Given the description of an element on the screen output the (x, y) to click on. 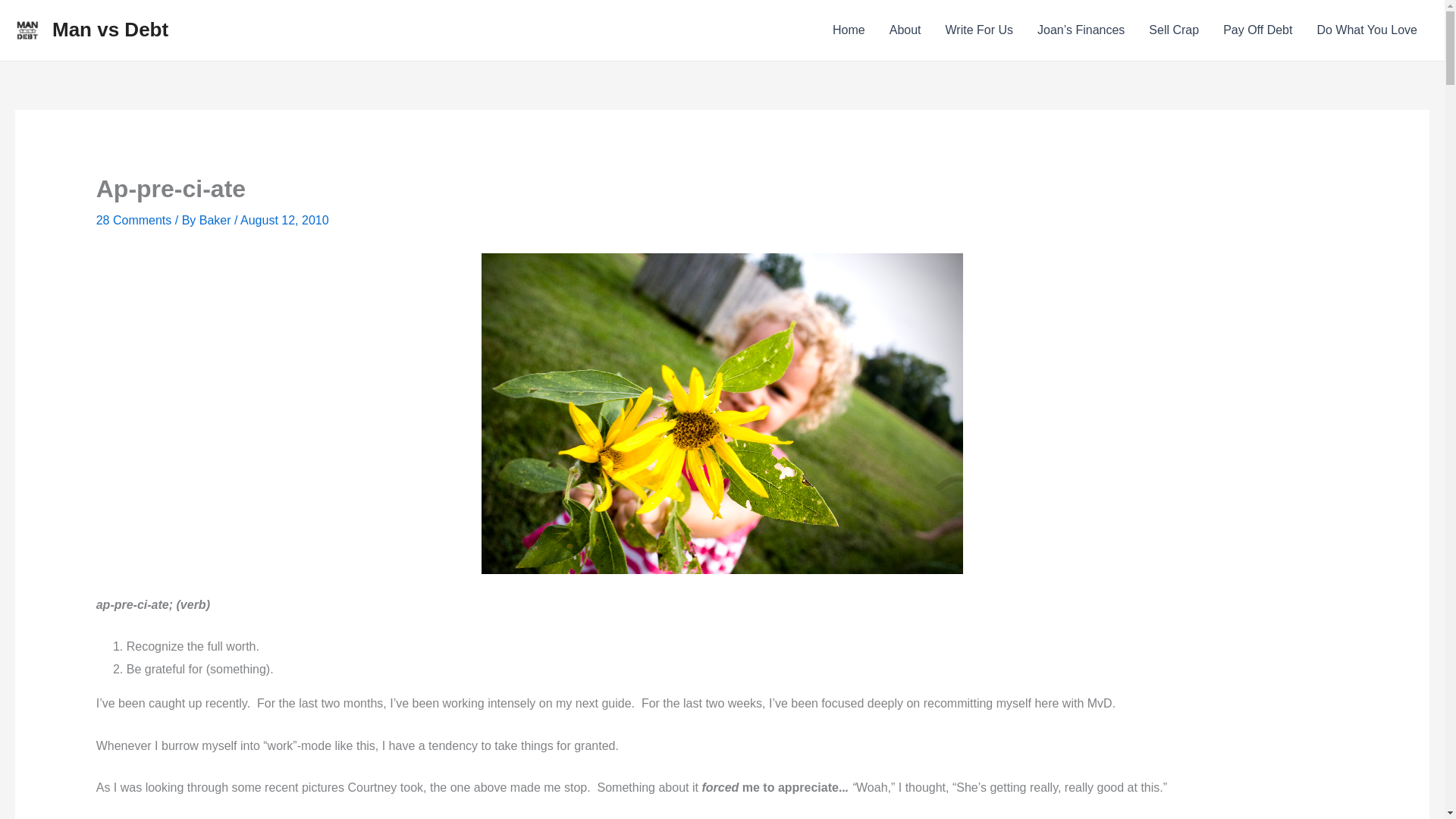
View all posts by Baker (216, 219)
Man vs Debt (110, 29)
Sell Crap (1174, 30)
About (905, 30)
28 Comments (133, 219)
Do What You Love (1366, 30)
Home (849, 30)
About (905, 30)
Home (849, 30)
